Given the description of an element on the screen output the (x, y) to click on. 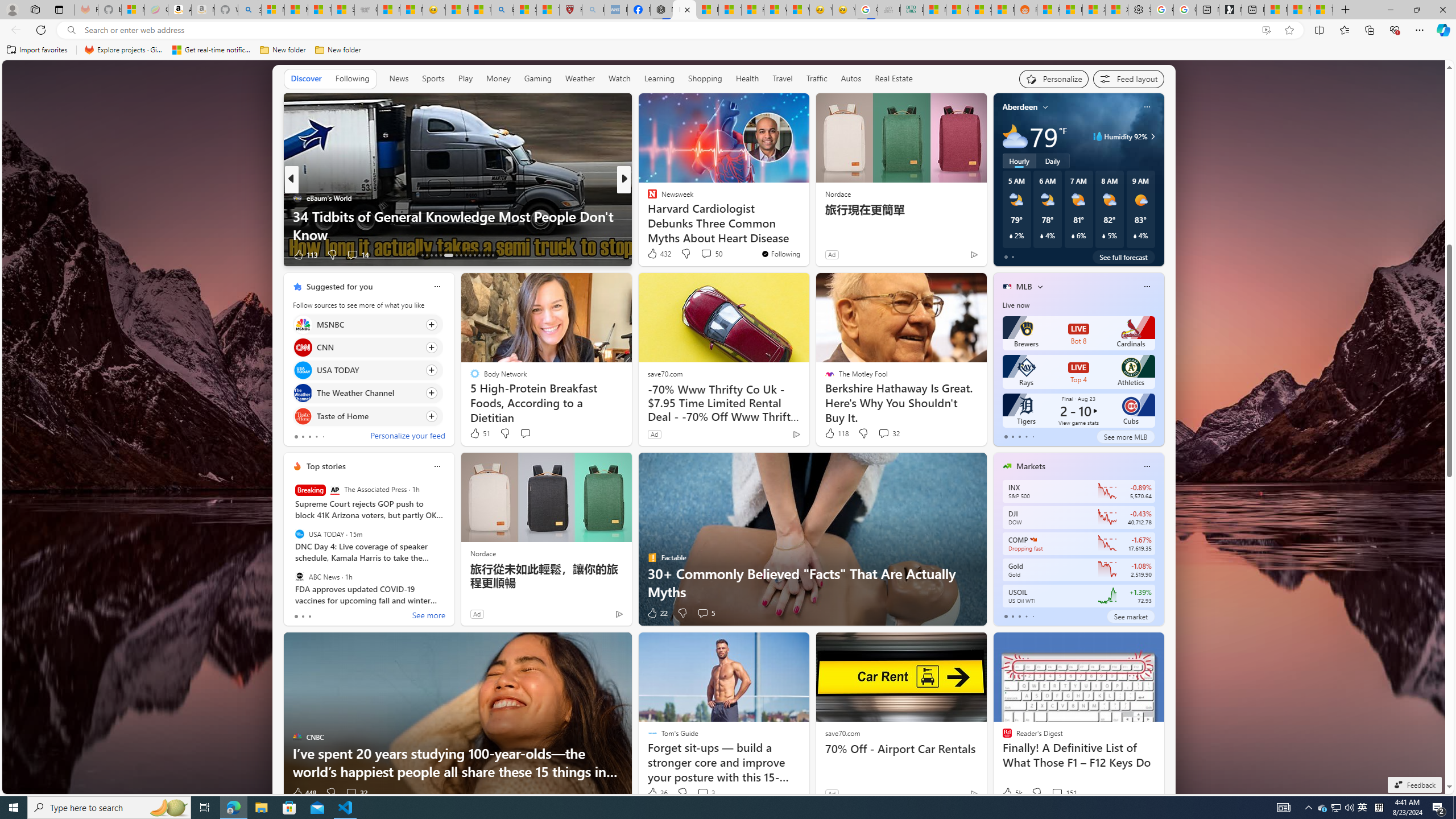
ABC News (299, 576)
12 Popular Science Lies that Must be Corrected (547, 9)
View comments 1 Comment (698, 254)
Markets (1030, 466)
Shopping (705, 78)
9 Unhygienic Things Most People Do (807, 234)
AutomationID: tab-76 (474, 255)
View comments 1 Comment (702, 254)
NASDAQ (1032, 539)
Health (746, 78)
